Given the description of an element on the screen output the (x, y) to click on. 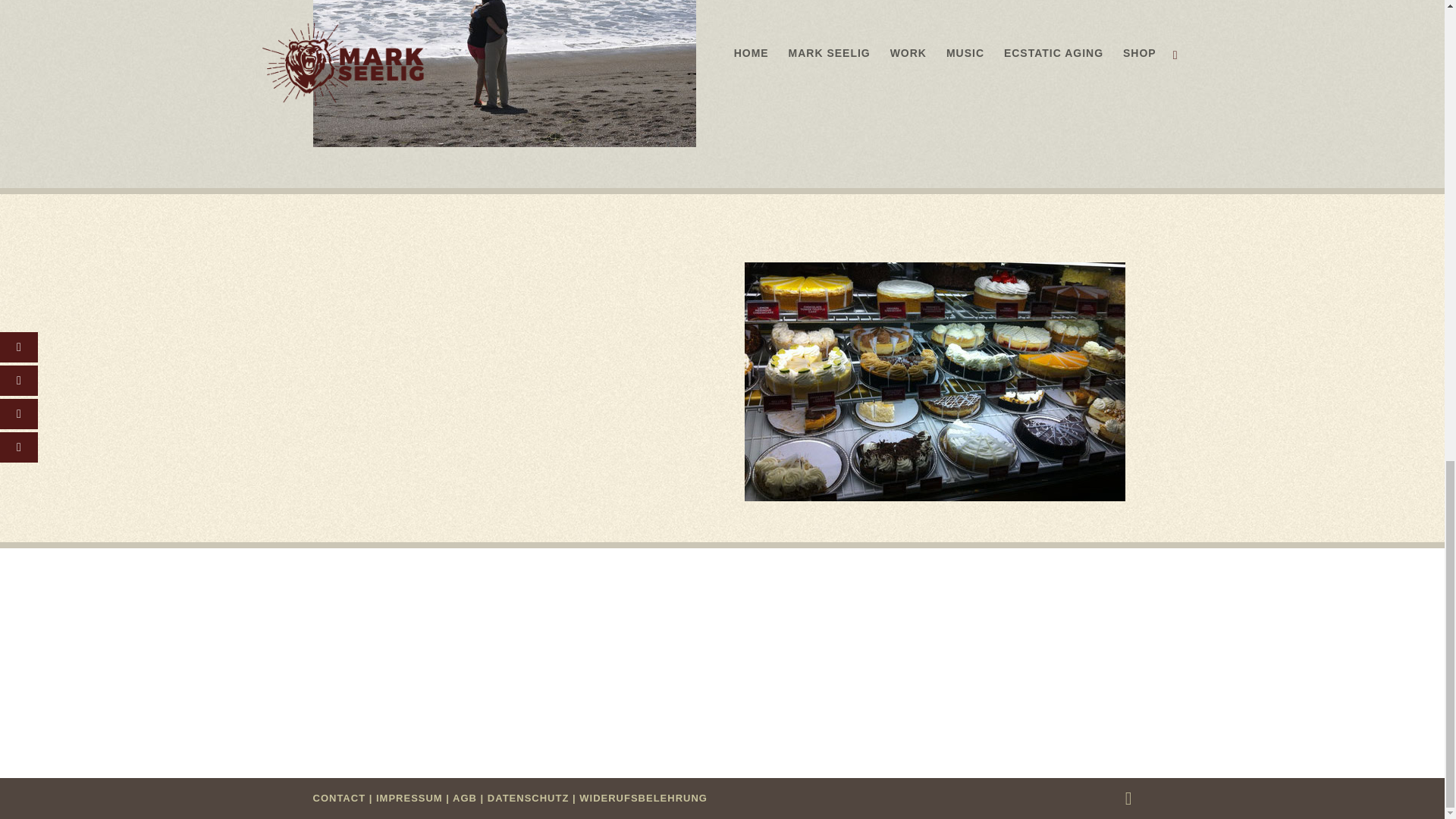
AGB (464, 797)
IMPRESSUM (408, 797)
CONTACT (339, 797)
WIDERUFSBELEHRUNG (643, 797)
DATENSCHUTZ (528, 797)
